Given the description of an element on the screen output the (x, y) to click on. 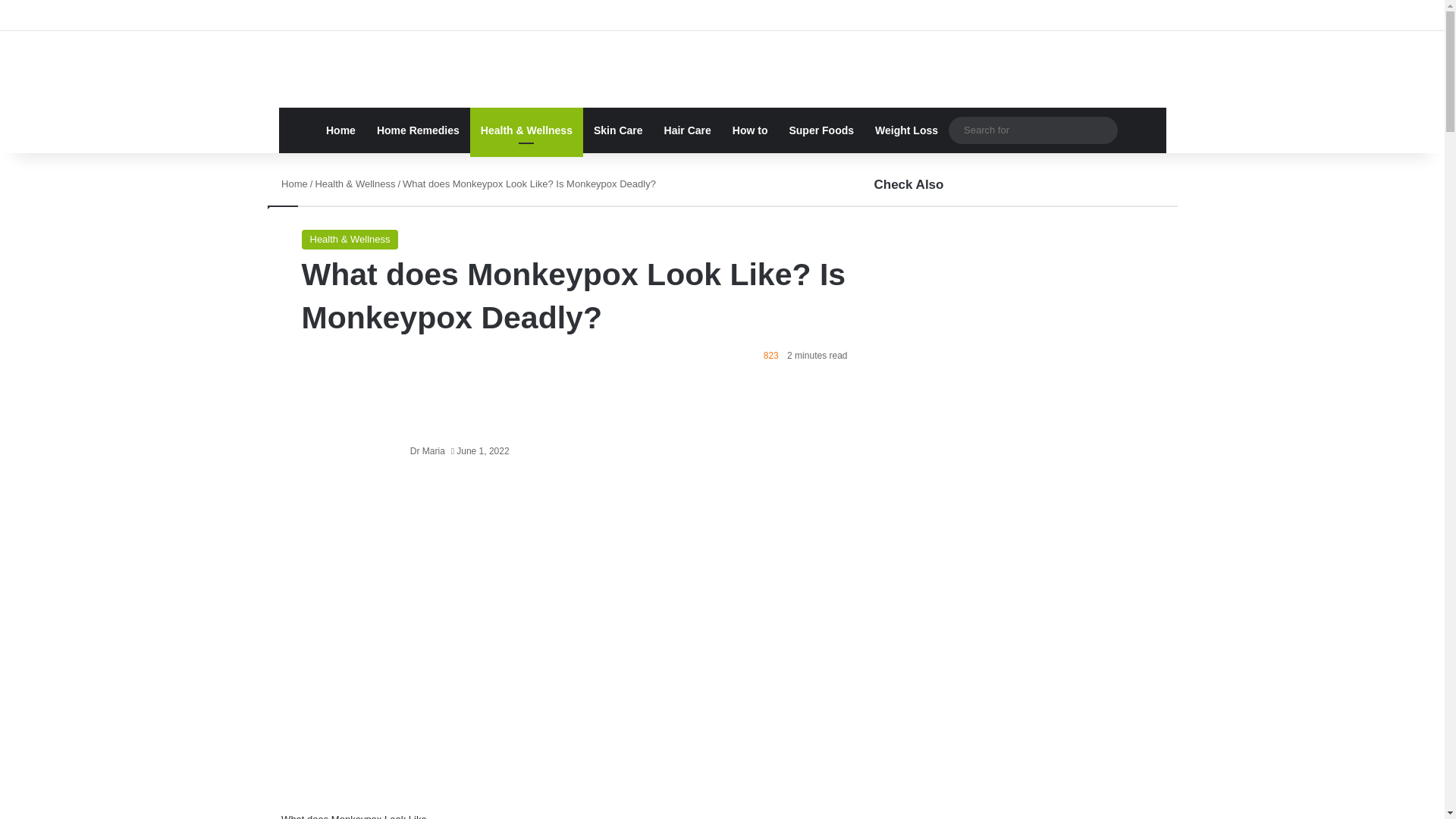
Search for (1102, 130)
Super Foods (820, 130)
Search for (1033, 129)
Skin Care (618, 130)
Weight Loss (906, 130)
Home (293, 183)
Home (340, 130)
Hair Care (687, 130)
Dr Maria (427, 450)
How to (750, 130)
